Given the description of an element on the screen output the (x, y) to click on. 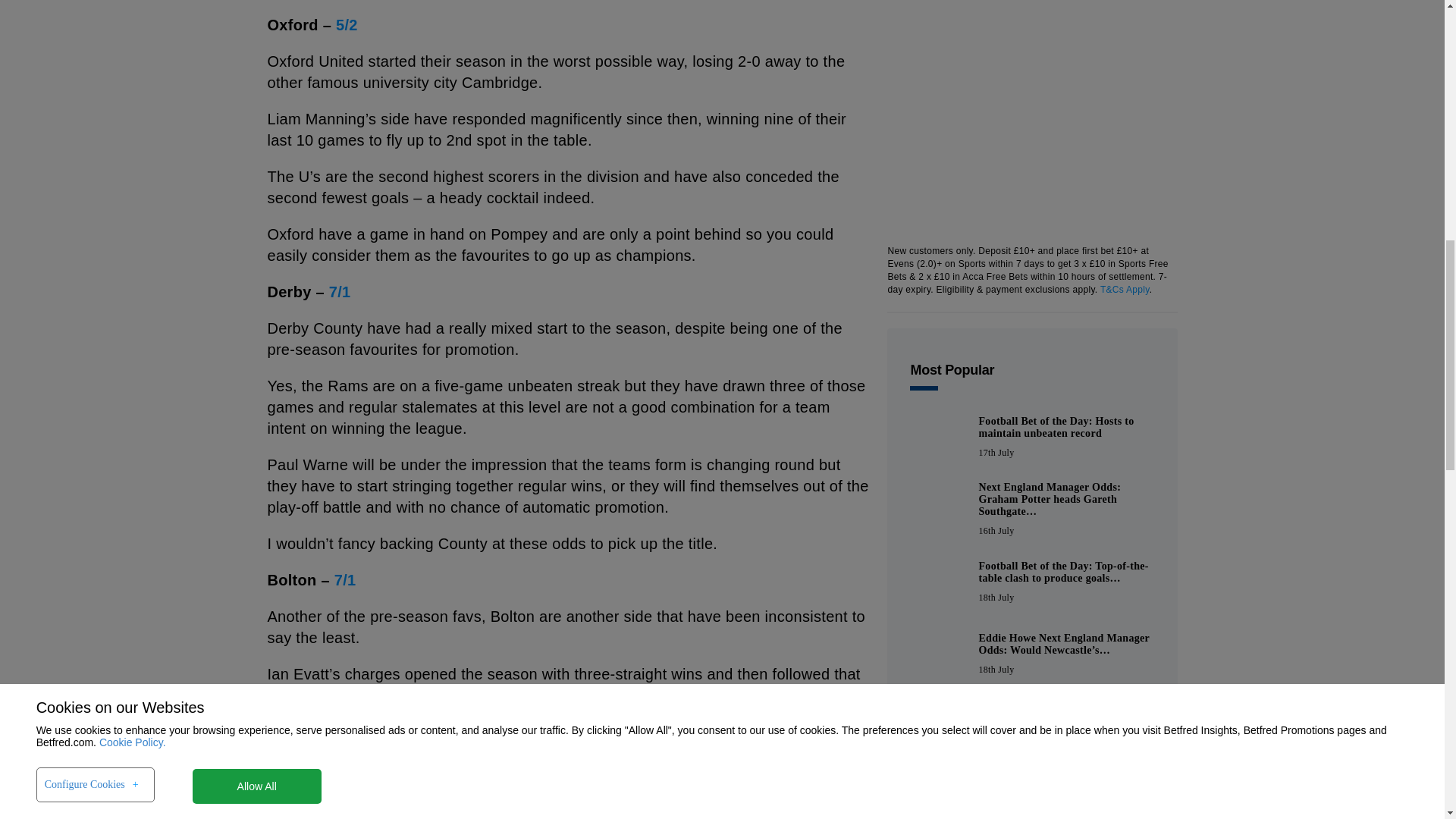
Football Bet of the Day: Hosts to maintain unbeaten record (938, 437)
